Given the description of an element on the screen output the (x, y) to click on. 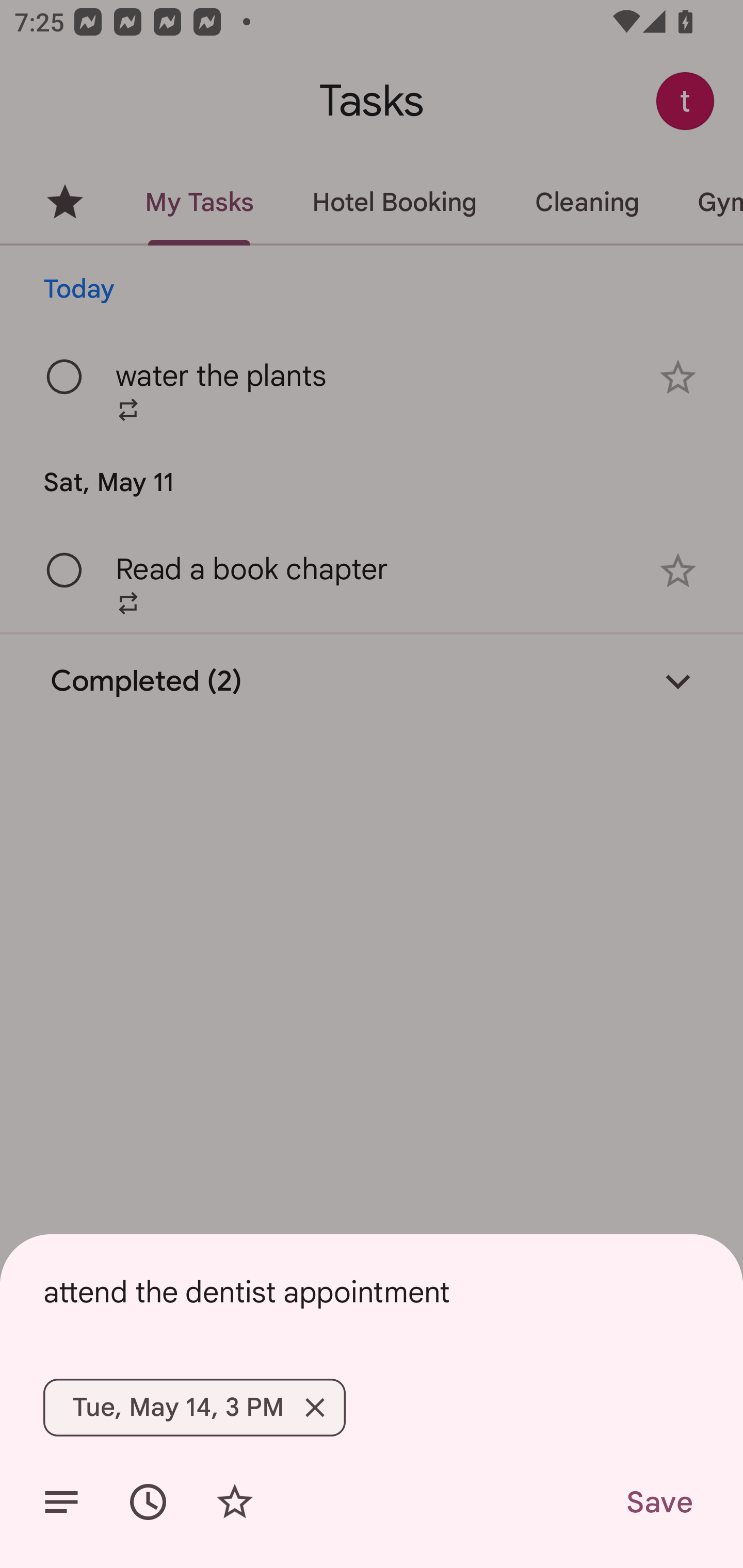
attend the dentist appointment (371, 1291)
Tue, May 14, 3 PM Remove Tue, May 14, 3 PM (194, 1407)
Save (659, 1501)
Add details (60, 1501)
Set date/time (147, 1501)
Add star (234, 1501)
